Given the description of an element on the screen output the (x, y) to click on. 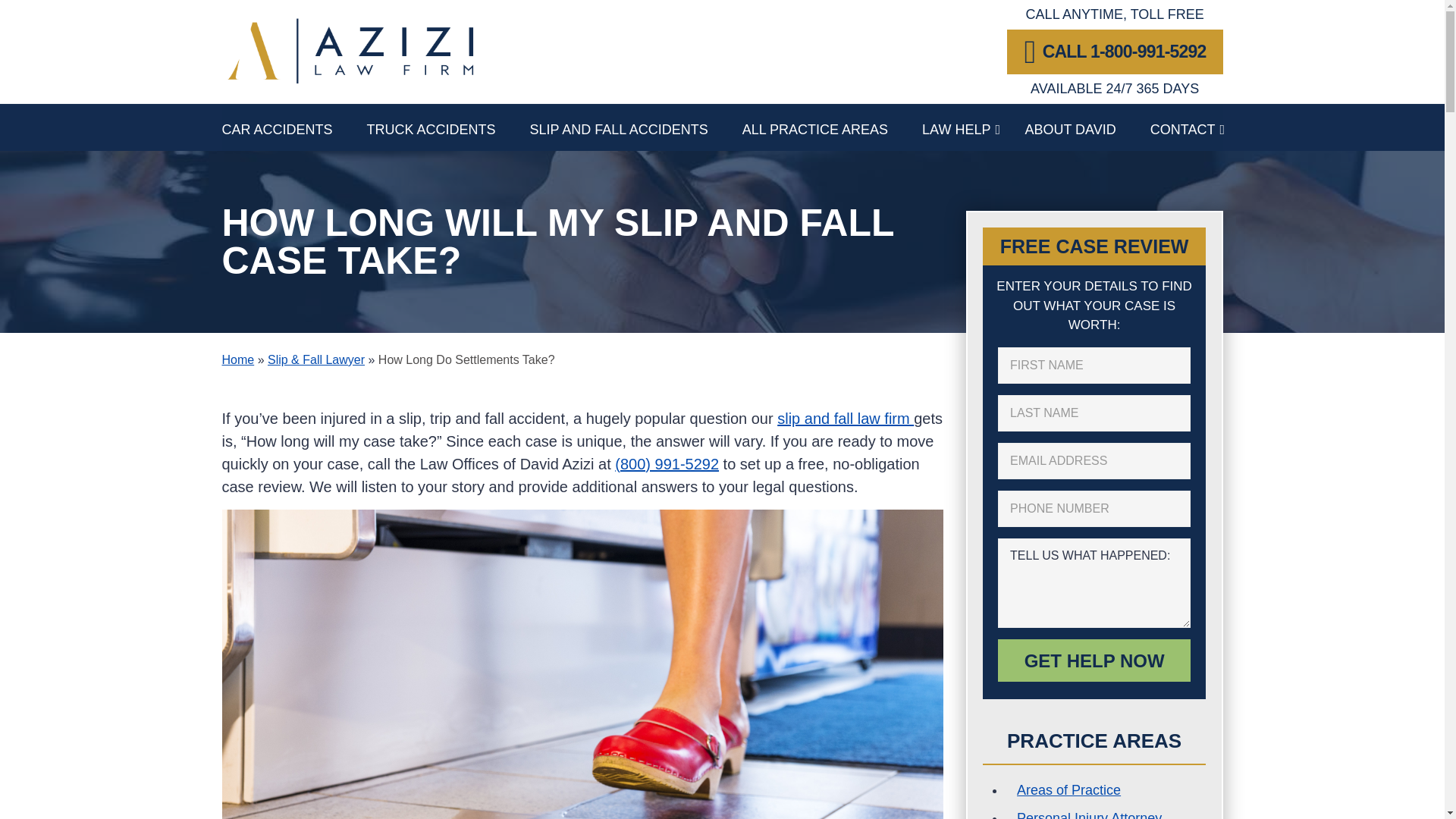
CONTACT (1182, 127)
ALL PRACTICE AREAS (831, 127)
Home (237, 359)
CALL 1-800-991-5292 (1115, 51)
Slip, Trip and Fall Accident Lawyer (635, 127)
CAR ACCIDENTS (293, 127)
Get Help Now (1094, 660)
Los Angeles Car Accident Lawyer (293, 127)
SLIP AND FALL ACCIDENTS (635, 127)
Los Angeles Truck Accident Lawyer (447, 127)
TRUCK ACCIDENTS (447, 127)
LAW HELP (973, 127)
slip and fall law firm (845, 418)
ABOUT DAVID (1087, 127)
